Given the description of an element on the screen output the (x, y) to click on. 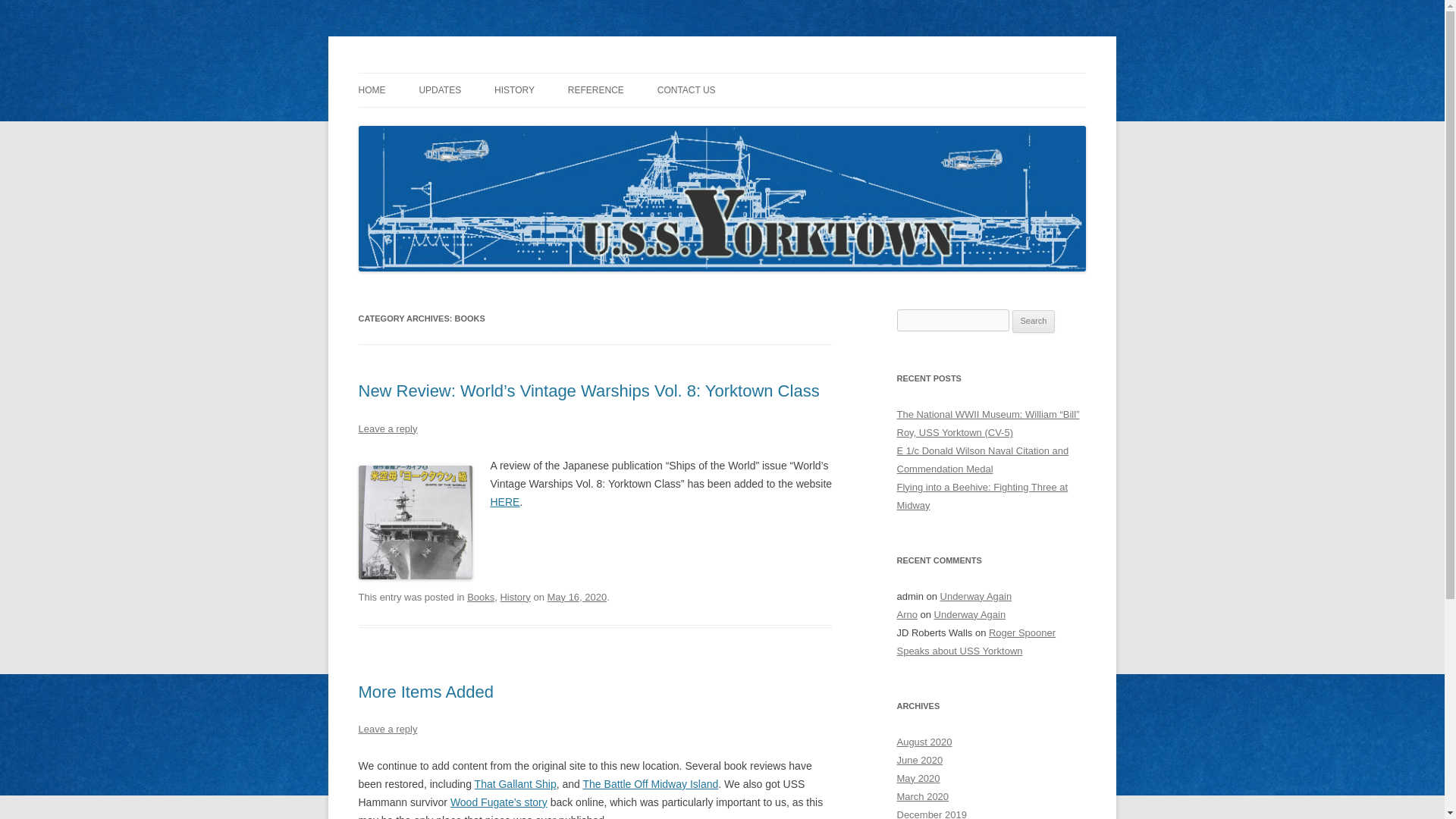
Search (1033, 321)
HISTORY (514, 90)
USS YORKTOWN CV-5 HISTORY (570, 122)
CONTACT US (687, 90)
UPDATES (440, 90)
Leave a reply (387, 428)
REFERENCE (595, 90)
MODELS AND ACCESSORIES (643, 122)
12:41 pm (577, 596)
HERE (504, 501)
